Given the description of an element on the screen output the (x, y) to click on. 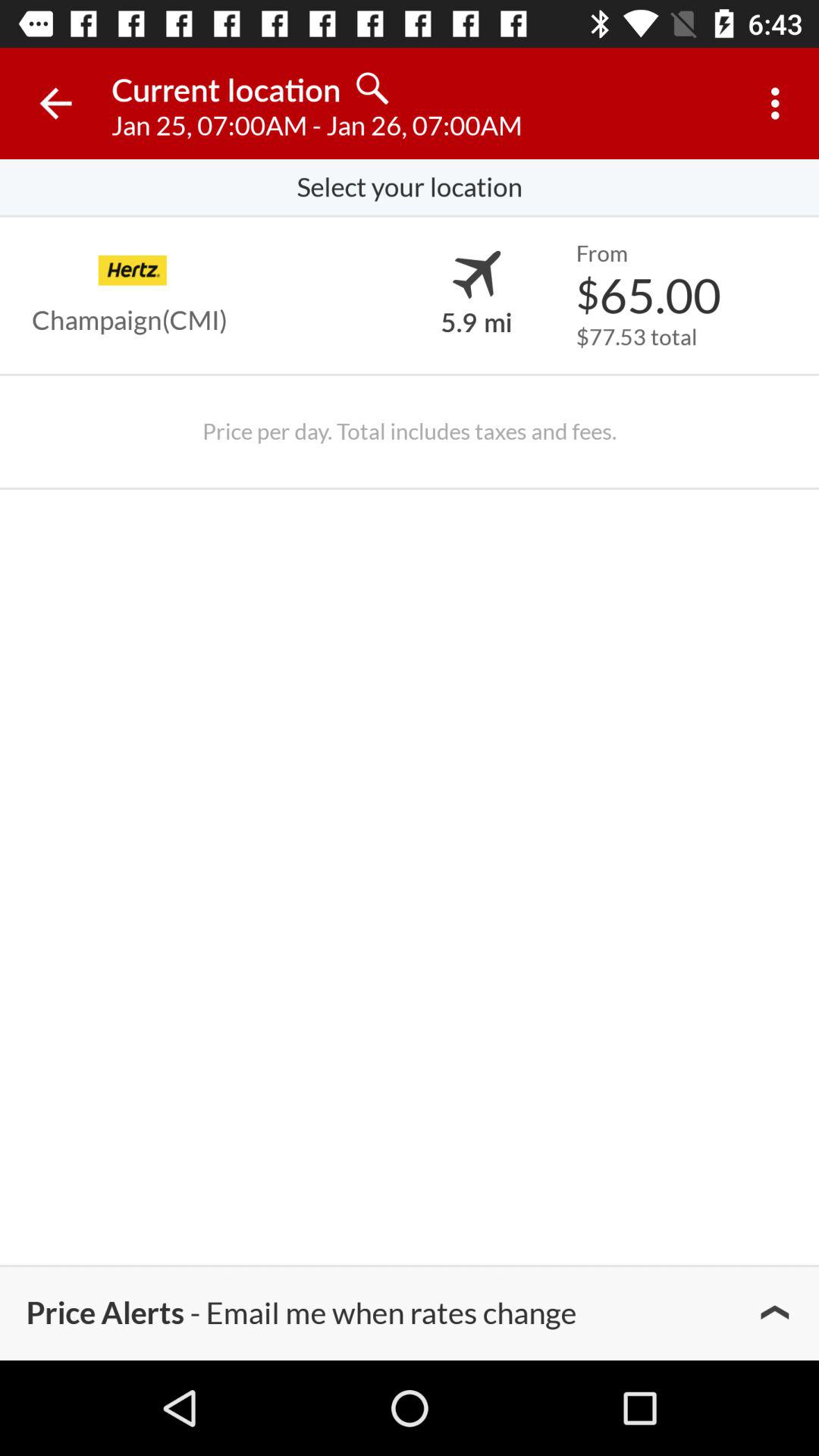
swipe to $65.00 icon (648, 294)
